Given the description of an element on the screen output the (x, y) to click on. 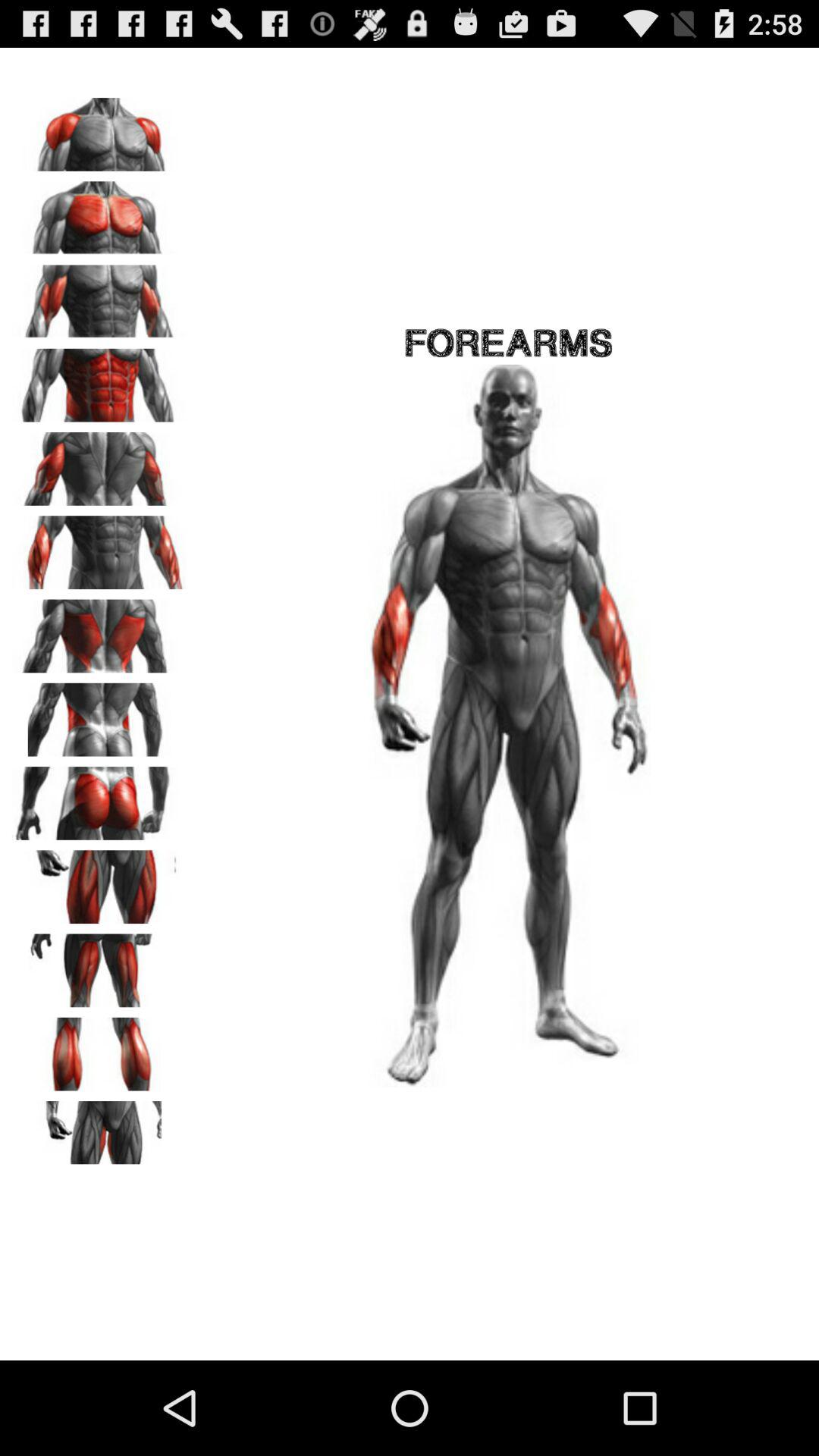
select hamstrings (99, 965)
